Given the description of an element on the screen output the (x, y) to click on. 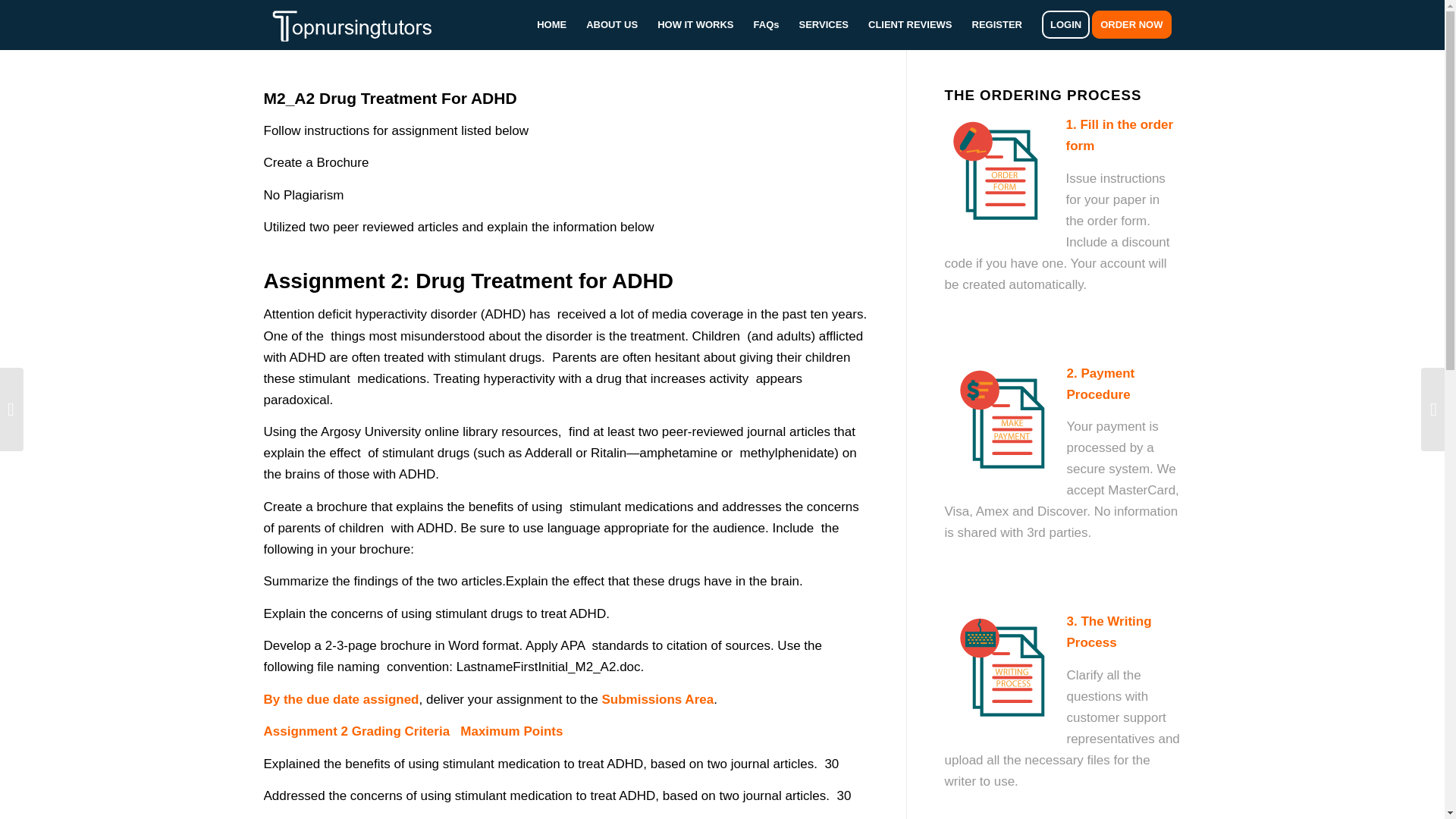
SERVICES (824, 24)
ABOUT US (611, 24)
ORDER NOW (1136, 24)
HOW IT WORKS (694, 24)
top logo2 (362, 24)
FAQs (766, 24)
CLIENT REVIEWS (910, 24)
REGISTER (997, 24)
HOME (551, 24)
LOGIN (1065, 24)
